Given the description of an element on the screen output the (x, y) to click on. 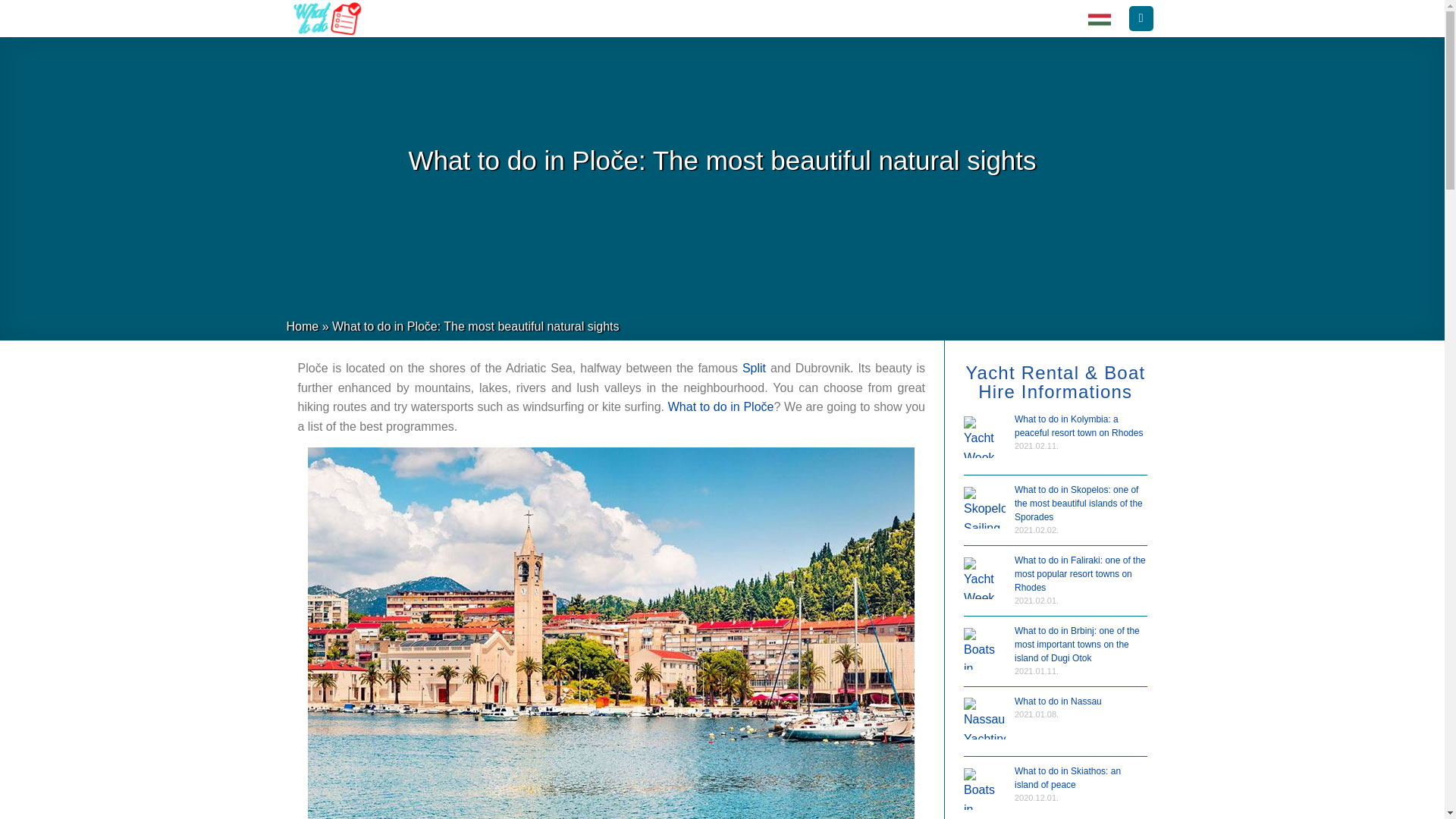
WHAT TO DO IN CARIBBEAN (459, 18)
Home (302, 326)
WHAT TO DO IN MEDITERRANEAN (628, 18)
What to do in holiday (1098, 17)
Split (753, 367)
MEDITERRANEAN YACHT CHARTER (967, 17)
CARIBBEAN YACHT CHARTER (797, 17)
Rent a boat in Split with Holiday What To Do (753, 367)
